Given the description of an element on the screen output the (x, y) to click on. 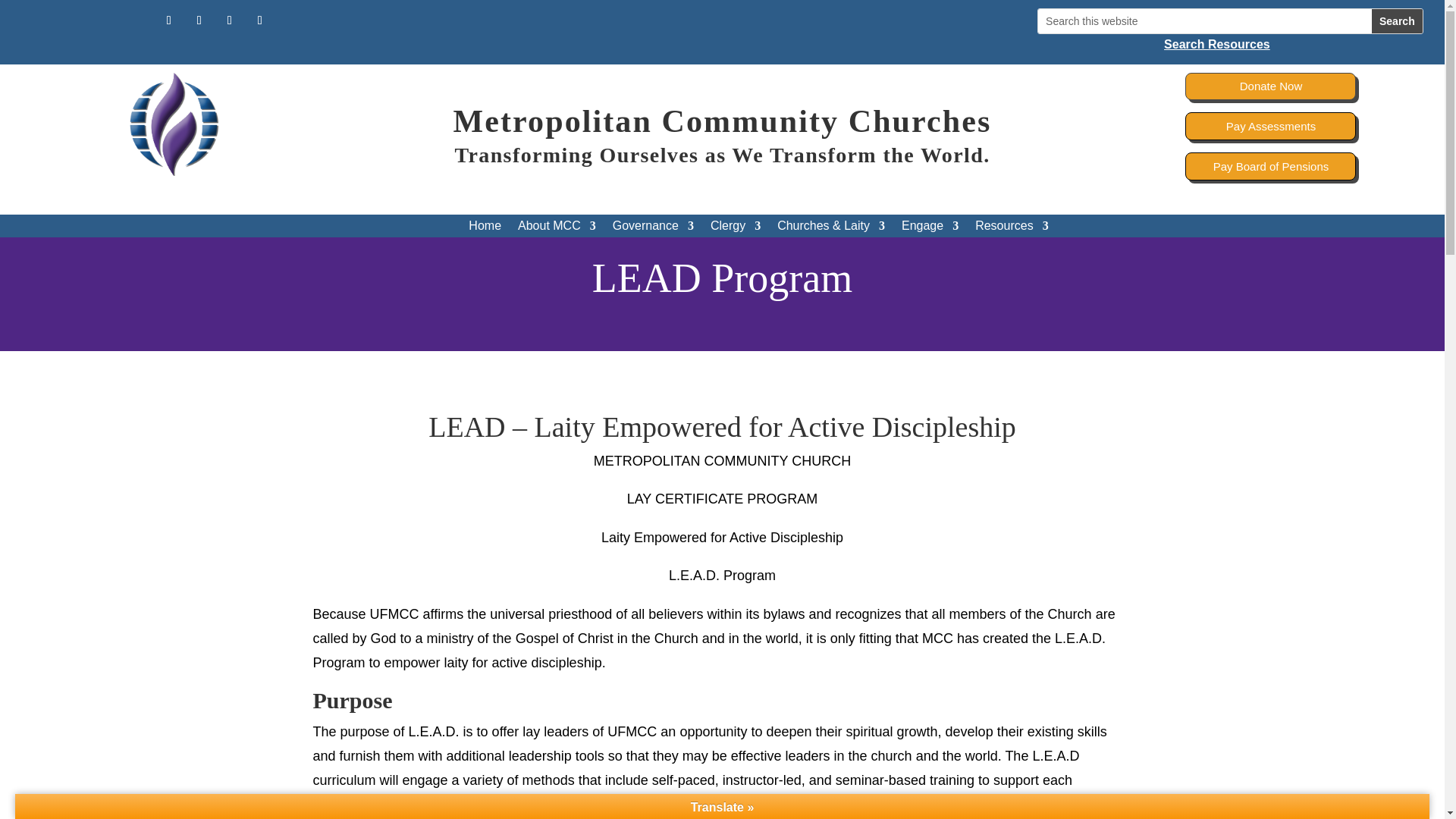
Search (1396, 21)
Governance (653, 228)
Pay Assessments (1270, 126)
Follow on Youtube (228, 20)
Donate Now (1270, 86)
Search Resources (1230, 43)
Follow on X (199, 20)
Follow on Facebook (168, 20)
Follow on Vimeo (259, 20)
Pay Board of Pensions (1270, 166)
